Given the description of an element on the screen output the (x, y) to click on. 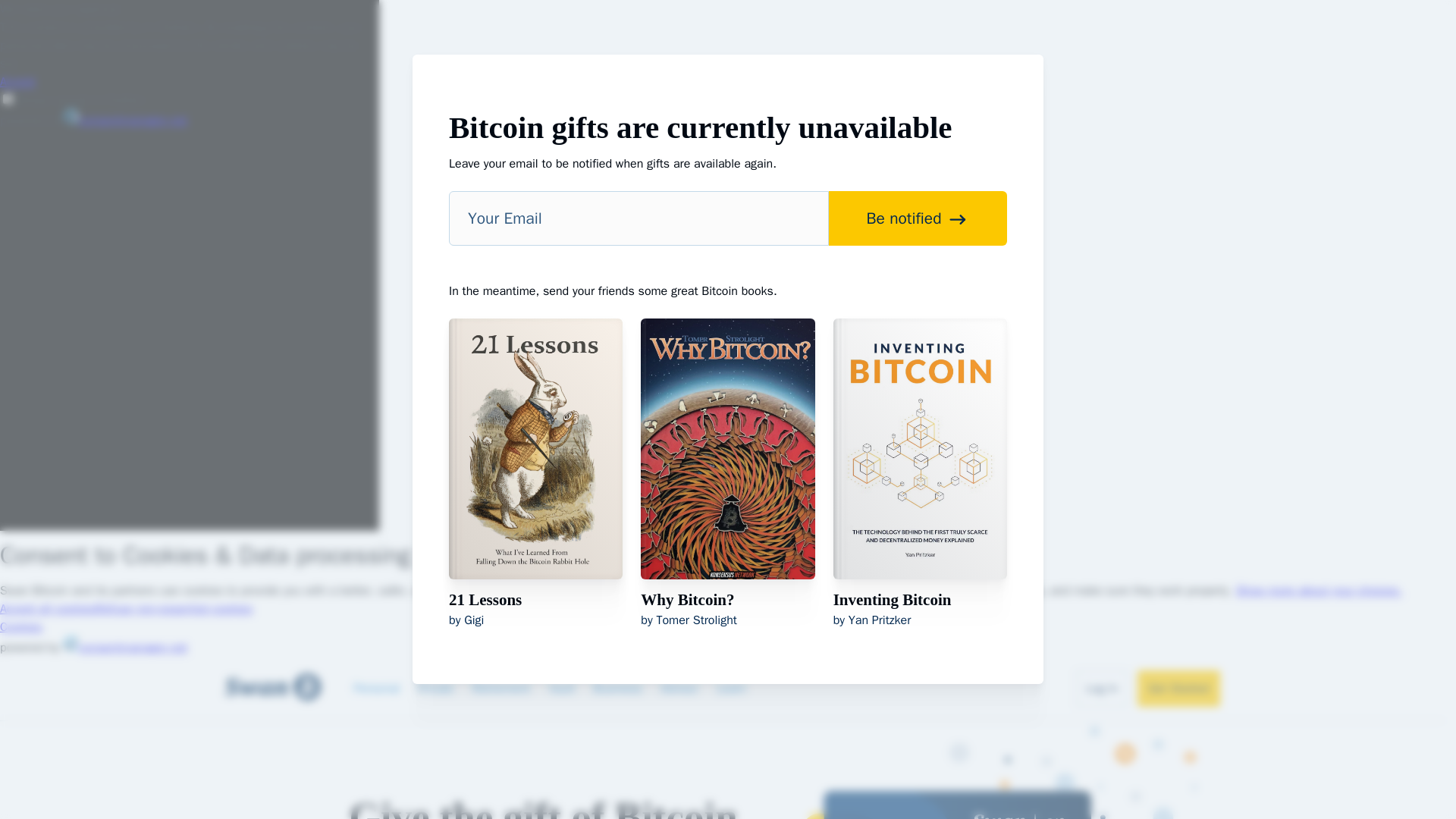
Get Started (1178, 688)
Vault (561, 688)
Retirement (8, 813)
Advisor (679, 688)
Business (617, 688)
Swan logo (280, 688)
Learn (731, 688)
Private (435, 688)
Personal (376, 688)
Retirement (500, 688)
Swan logo (272, 687)
Log In (1101, 688)
